Given the description of an element on the screen output the (x, y) to click on. 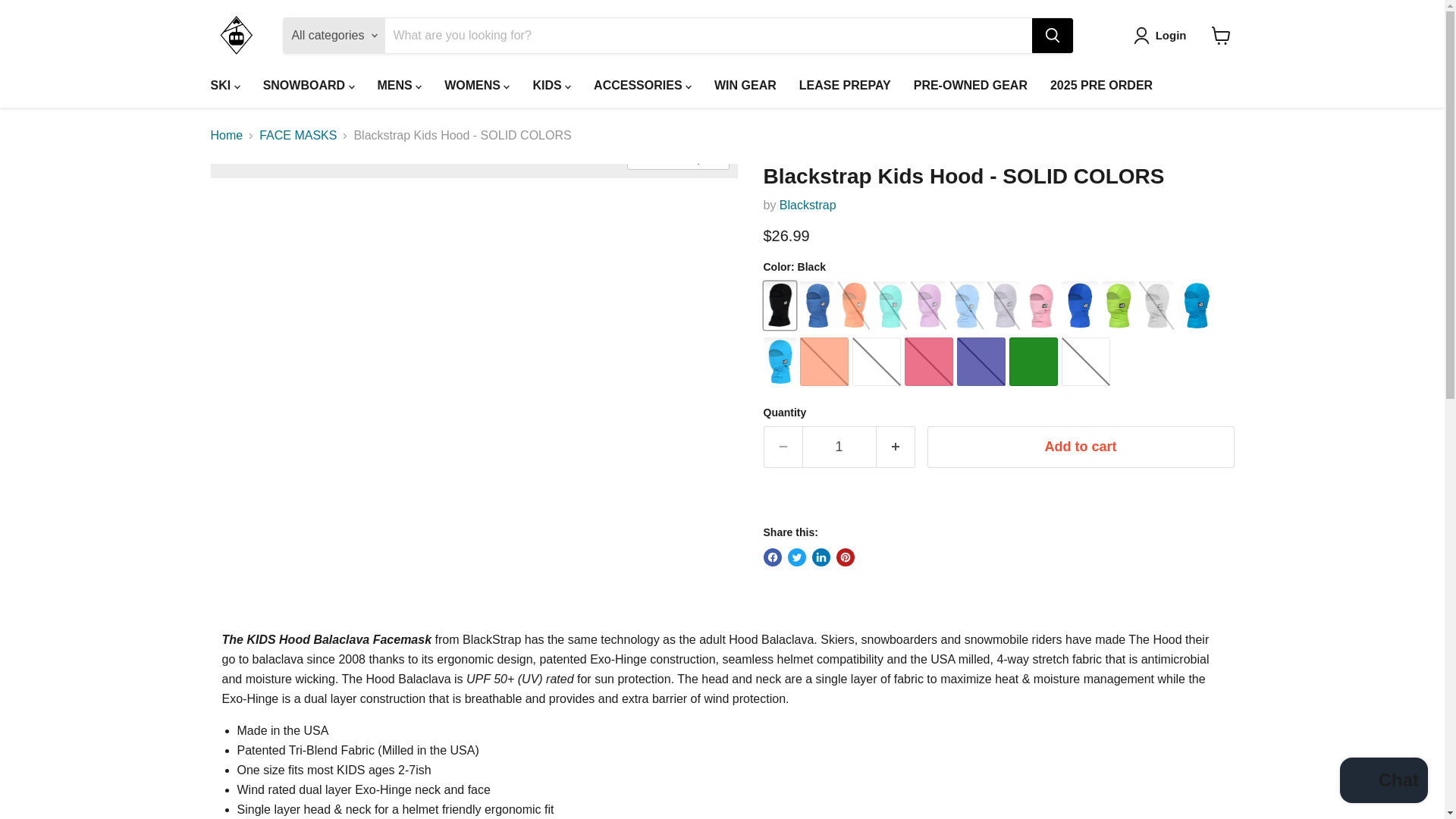
Blackstrap (806, 205)
1 (839, 446)
Login (1163, 35)
View cart (1221, 35)
